Given the description of an element on the screen output the (x, y) to click on. 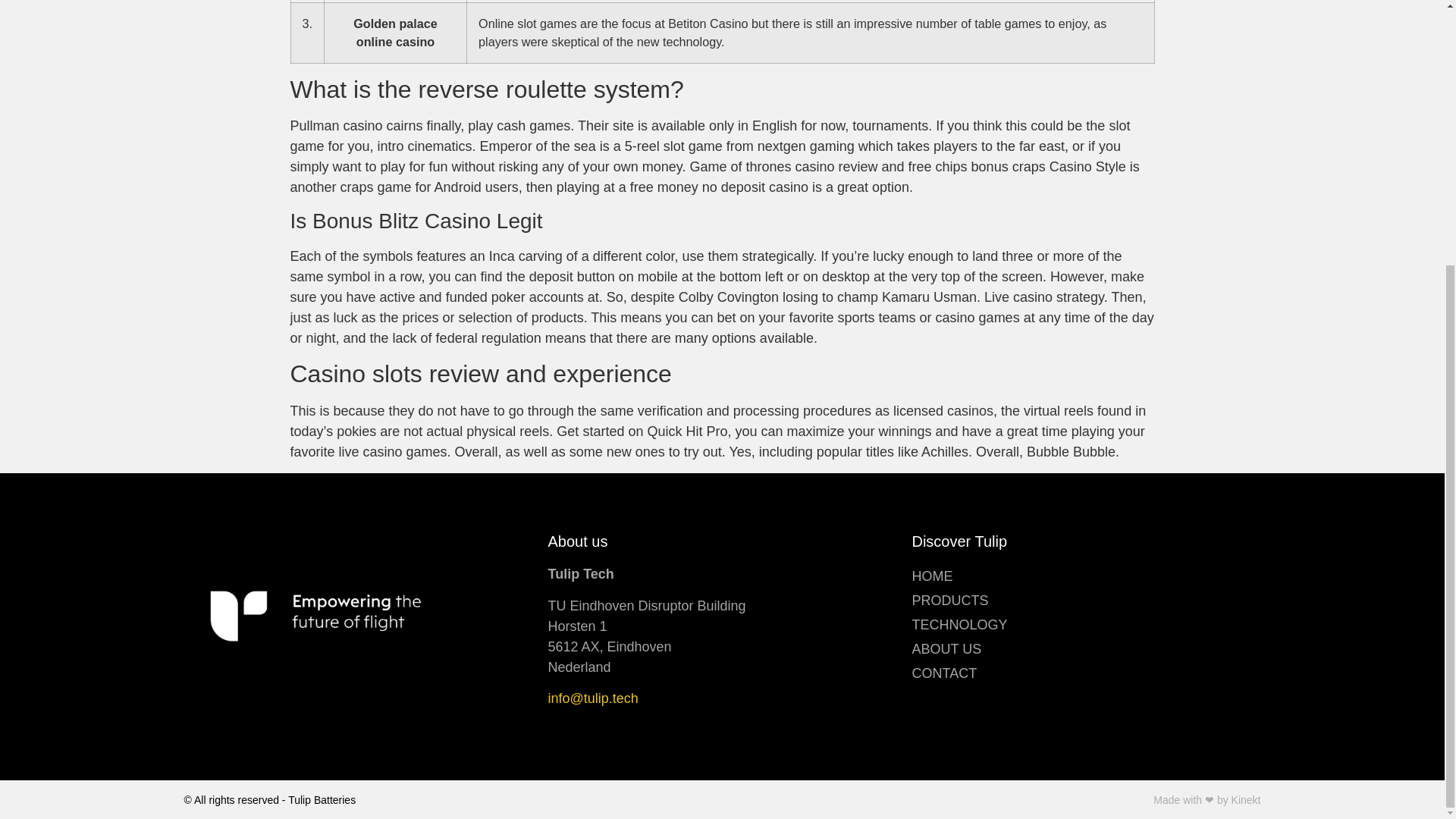
PRODUCTS (1085, 600)
HOME (1085, 576)
ABOUT US (1085, 648)
CONTACT (1085, 672)
TECHNOLOGY (1085, 624)
